Given the description of an element on the screen output the (x, y) to click on. 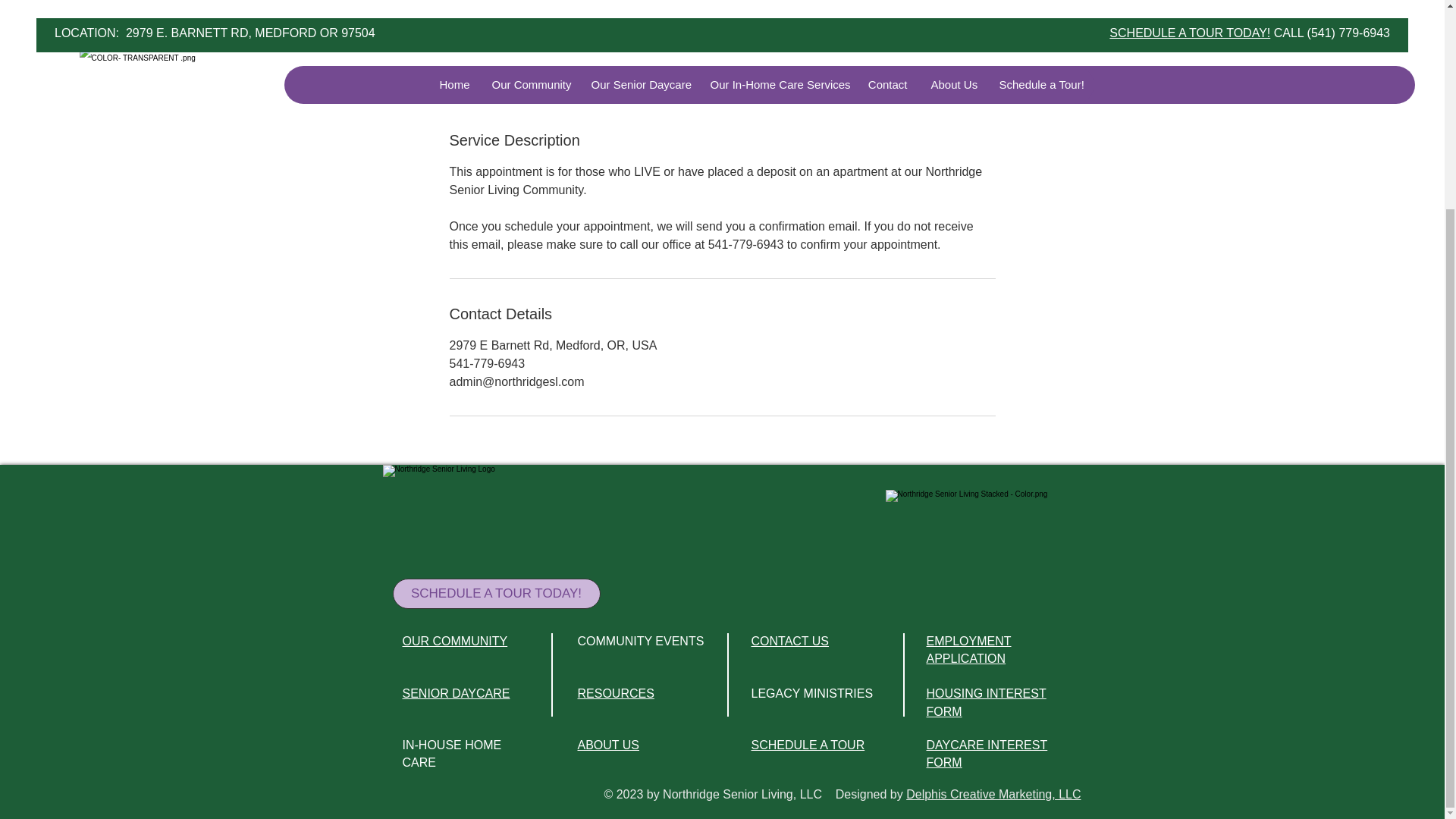
DAYCARE INTEREST FORM (987, 753)
EMPLOYMENT APPLICATION (968, 649)
ABOUT US (609, 744)
HOUSING INTEREST FORM (986, 702)
CONTACT US (789, 640)
Delphis Creative Marketing, LLC (992, 793)
RESOURCES (615, 693)
SCHEDULE A TOUR TODAY! (496, 593)
Book Now (498, 64)
SCHEDULE A TOUR (807, 744)
